Given the description of an element on the screen output the (x, y) to click on. 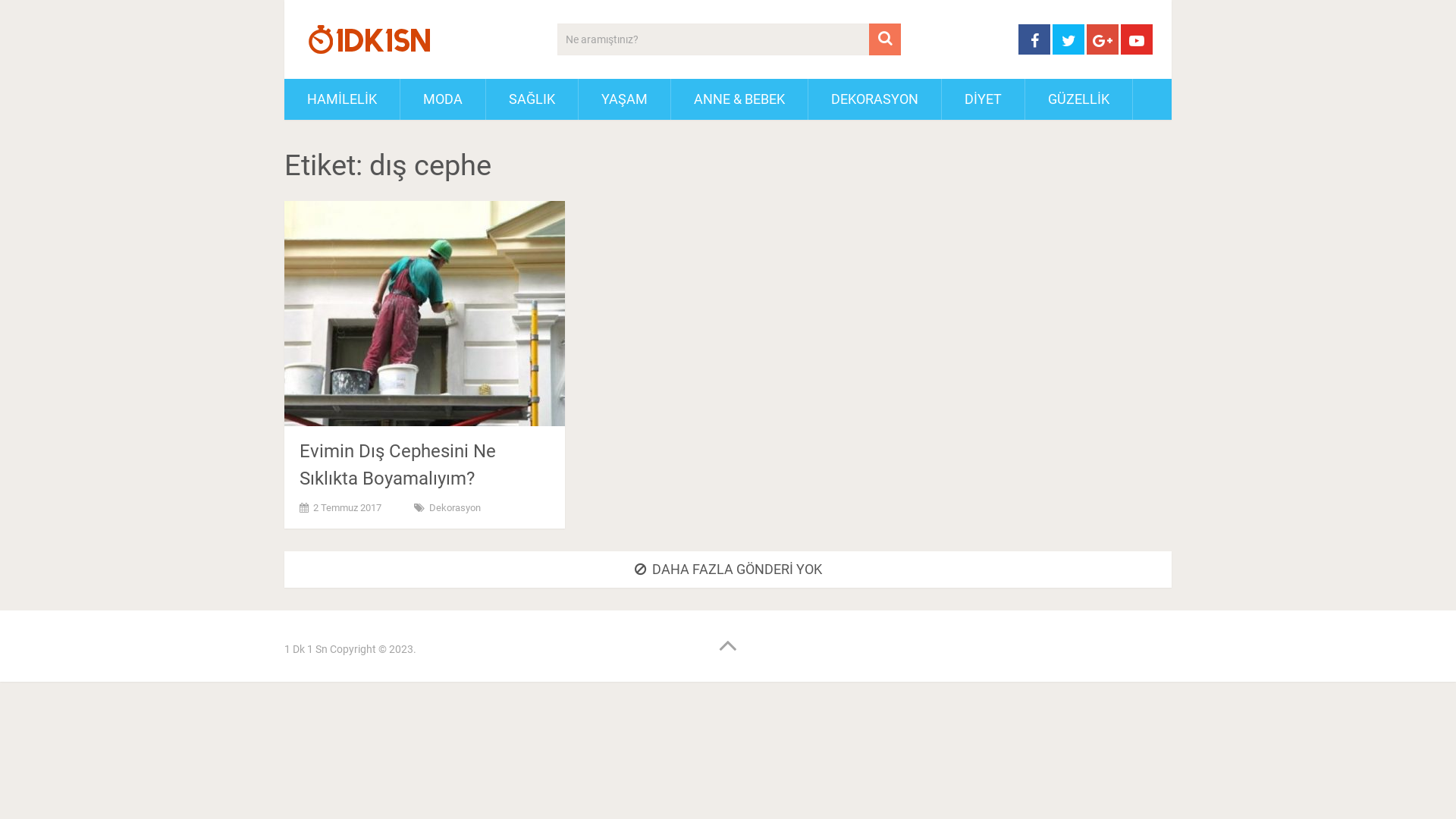
1 Dk 1 Sn Element type: text (305, 649)
DIYET Element type: text (982, 98)
HAMILELIK Element type: text (341, 98)
DEKORASYON Element type: text (874, 98)
ANNE & BEBEK Element type: text (739, 98)
MODA Element type: text (442, 98)
Dekorasyon Element type: text (454, 507)
